Given the description of an element on the screen output the (x, y) to click on. 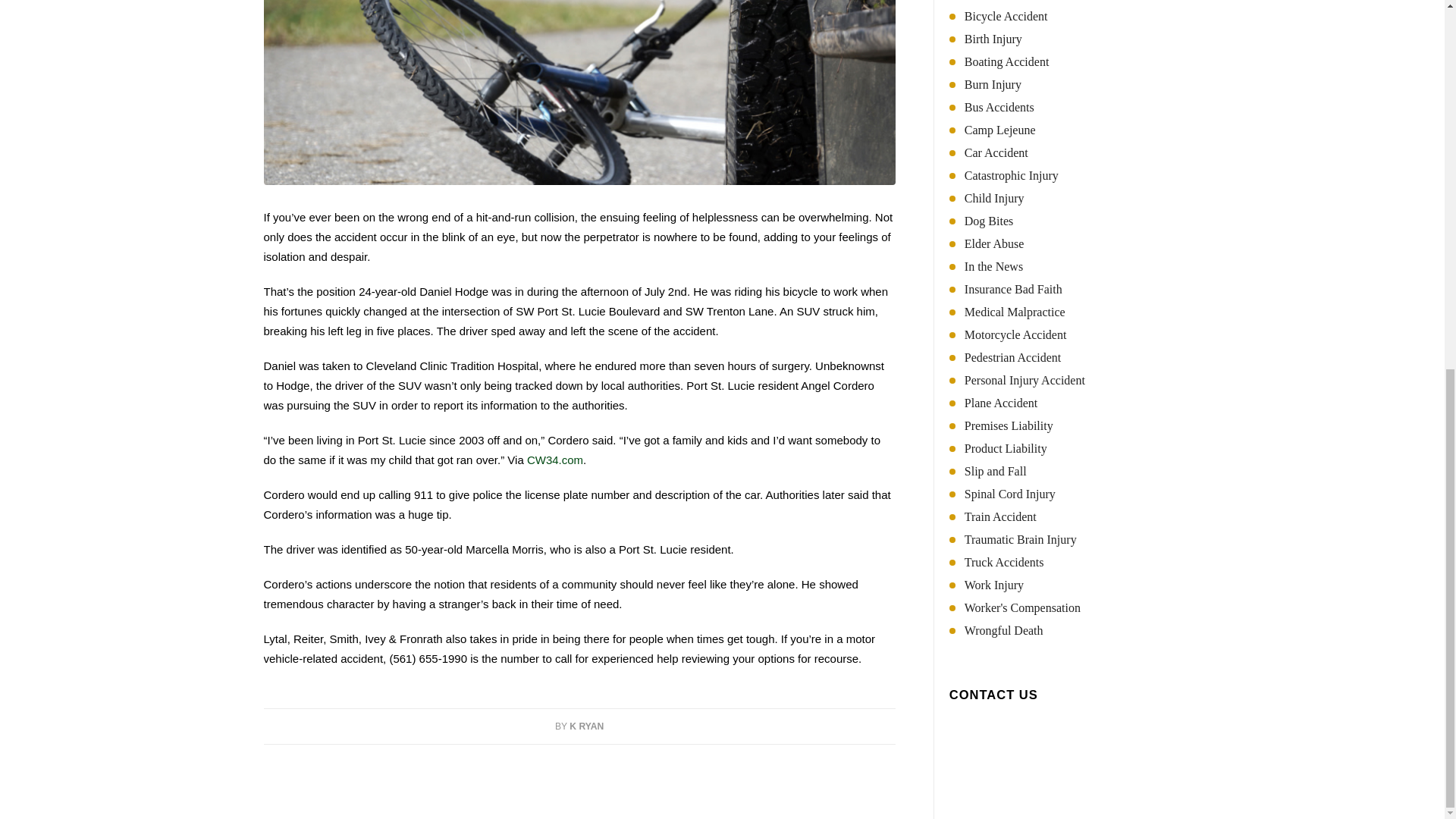
CW34.com (555, 459)
Posts by K Ryan (586, 726)
